Given the description of an element on the screen output the (x, y) to click on. 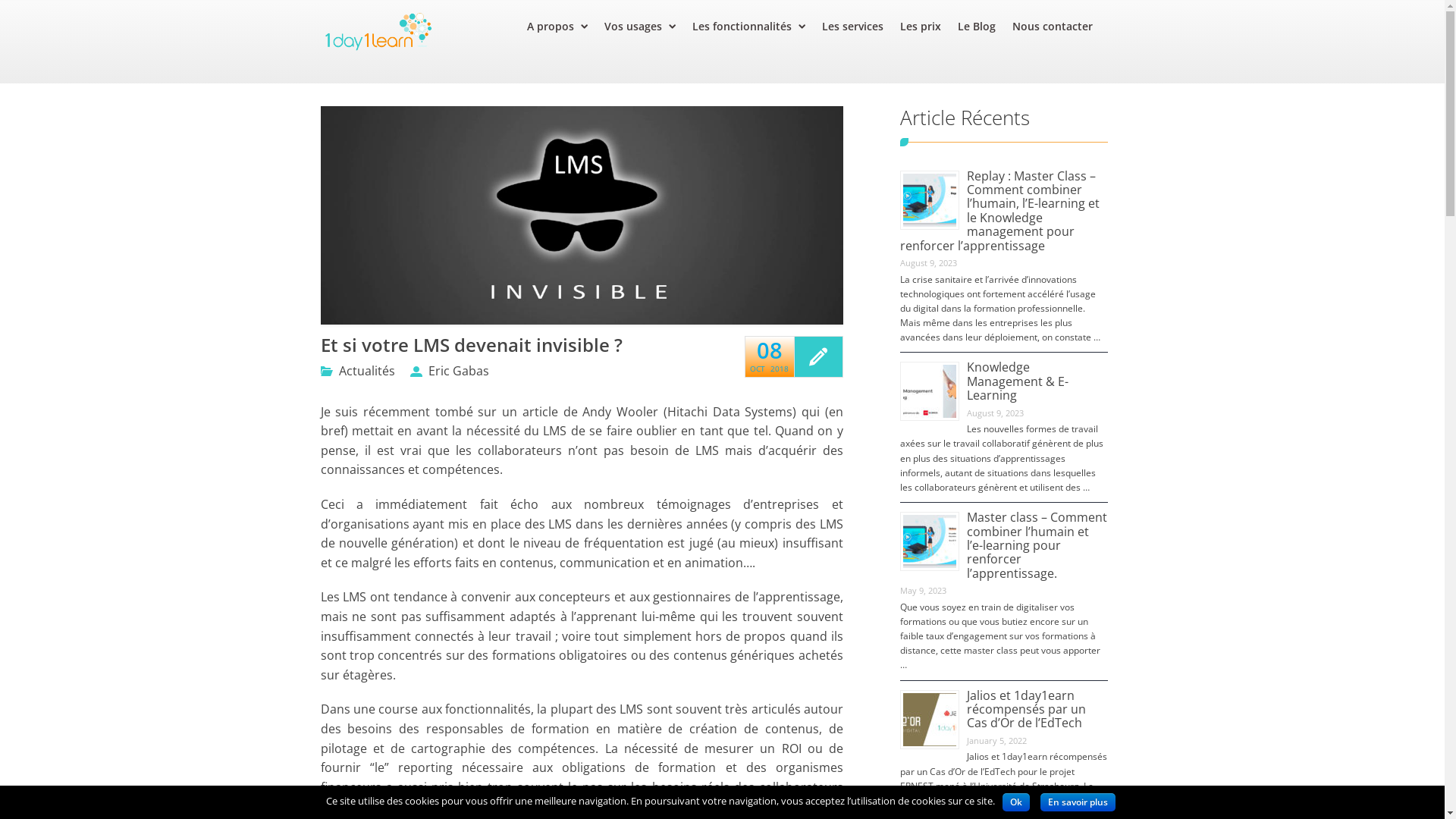
Les services Element type: text (861, 26)
Le Blog Element type: text (984, 26)
Les prix Element type: text (928, 26)
Knowledge Management & E-Learning Element type: text (1017, 380)
Ok Element type: text (1015, 802)
08
OCT 2018 Element type: text (769, 356)
Et si votre LMS devenait invisible ? Element type: text (513, 344)
Vos usages Element type: text (648, 26)
A propos Element type: text (565, 26)
Eric Gabas Element type: text (448, 370)
En savoir plus Element type: text (1077, 802)
Nous contacter Element type: text (1060, 26)
